Given the description of an element on the screen output the (x, y) to click on. 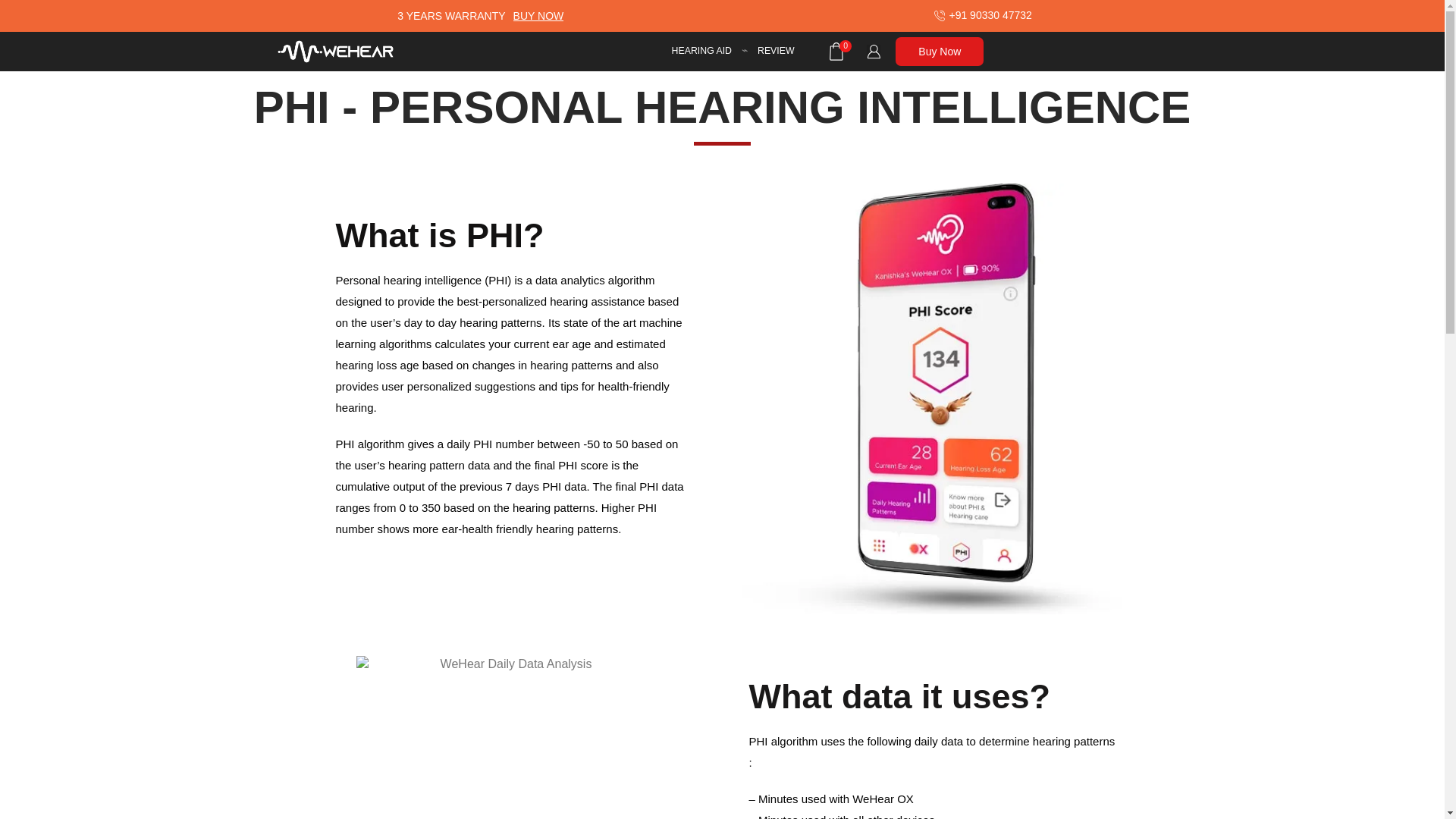
REVIEW (775, 51)
Buy Now (939, 51)
HEARING AID (701, 51)
BUY NOW (538, 15)
PHI 2 (509, 737)
0 (839, 51)
